Given the description of an element on the screen output the (x, y) to click on. 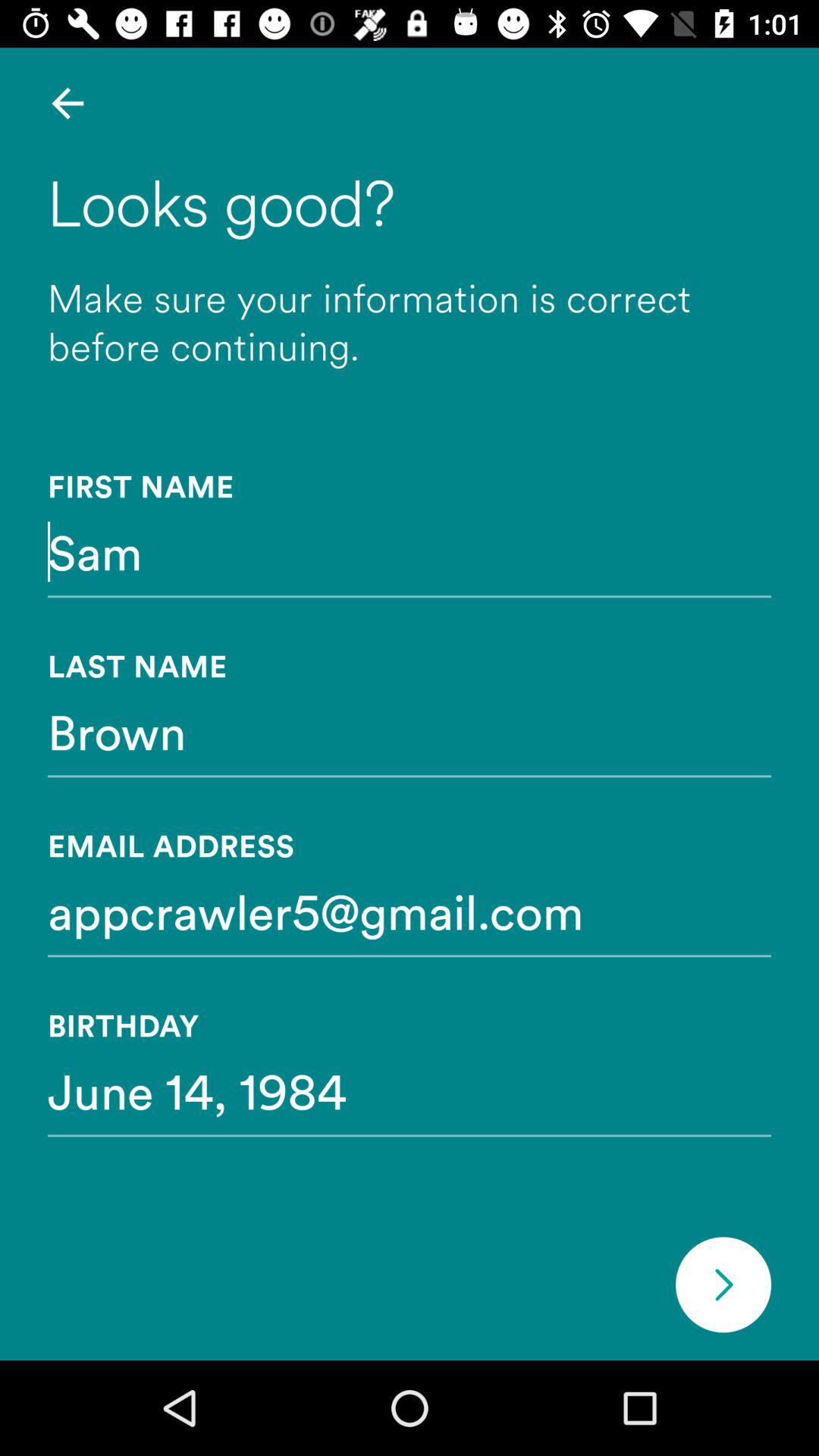
open item above the looks good? item (67, 103)
